Given the description of an element on the screen output the (x, y) to click on. 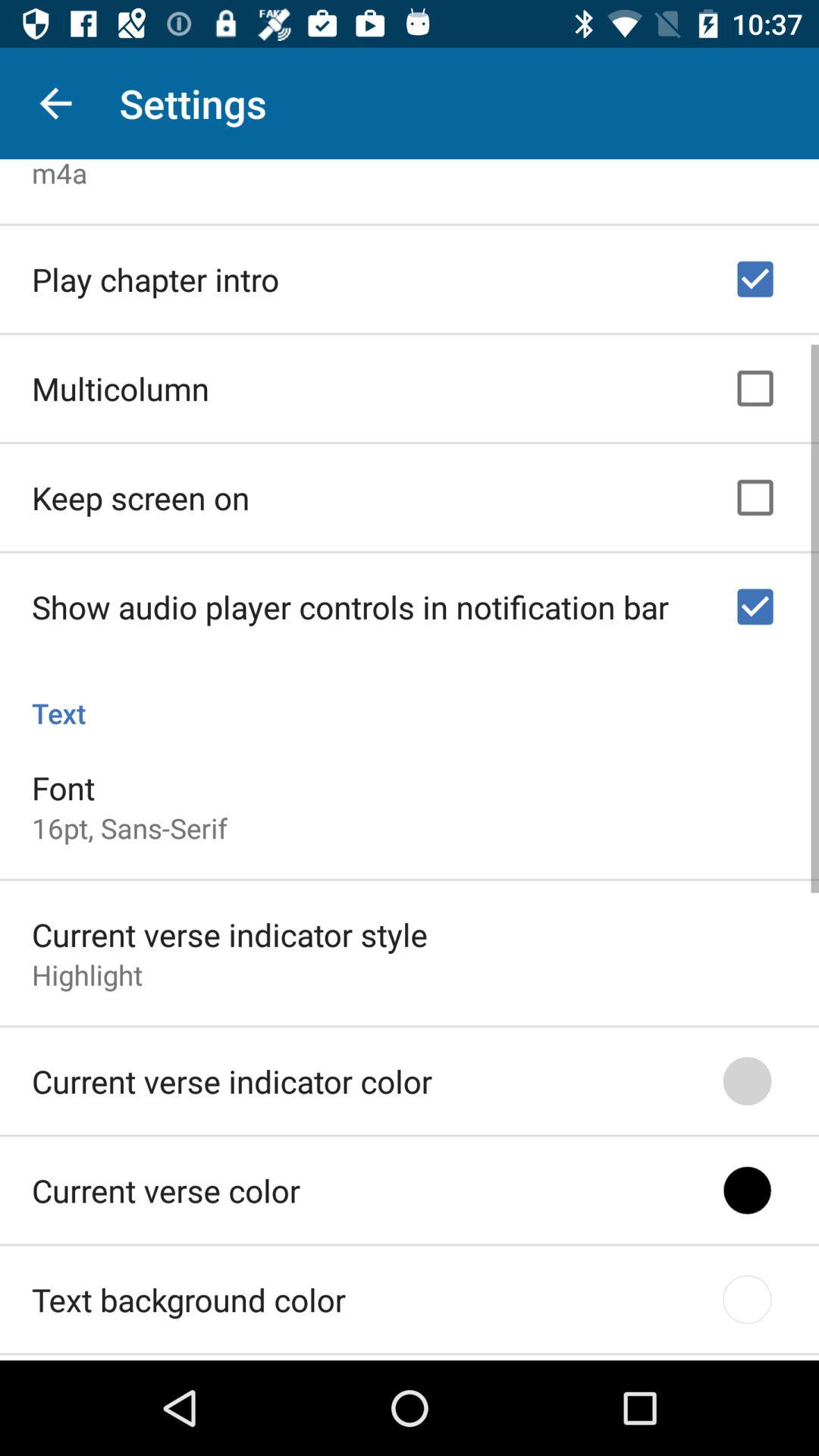
tap item above the text (349, 601)
